Given the description of an element on the screen output the (x, y) to click on. 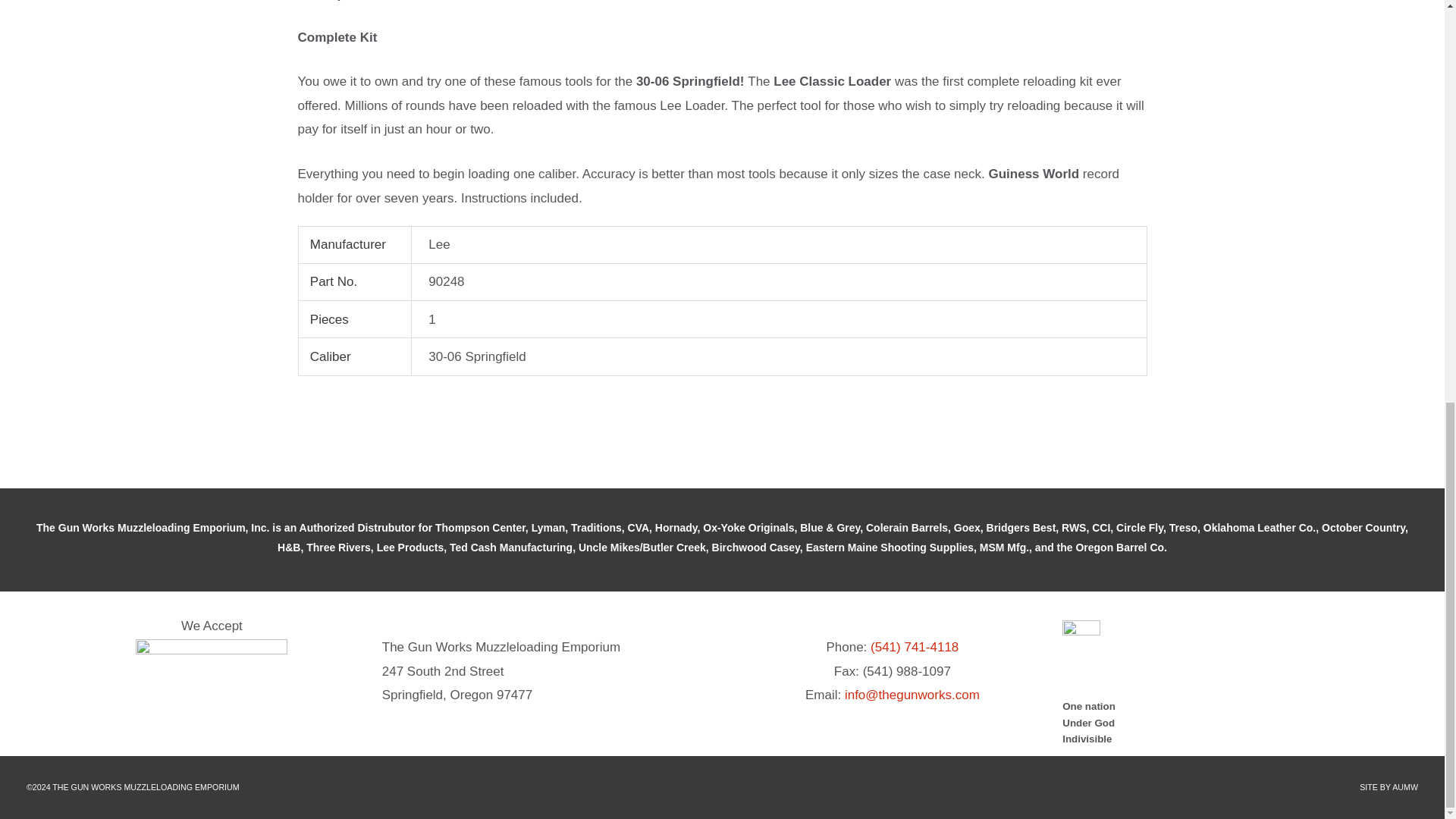
Description (332, 6)
Additional information (453, 6)
